Given the description of an element on the screen output the (x, y) to click on. 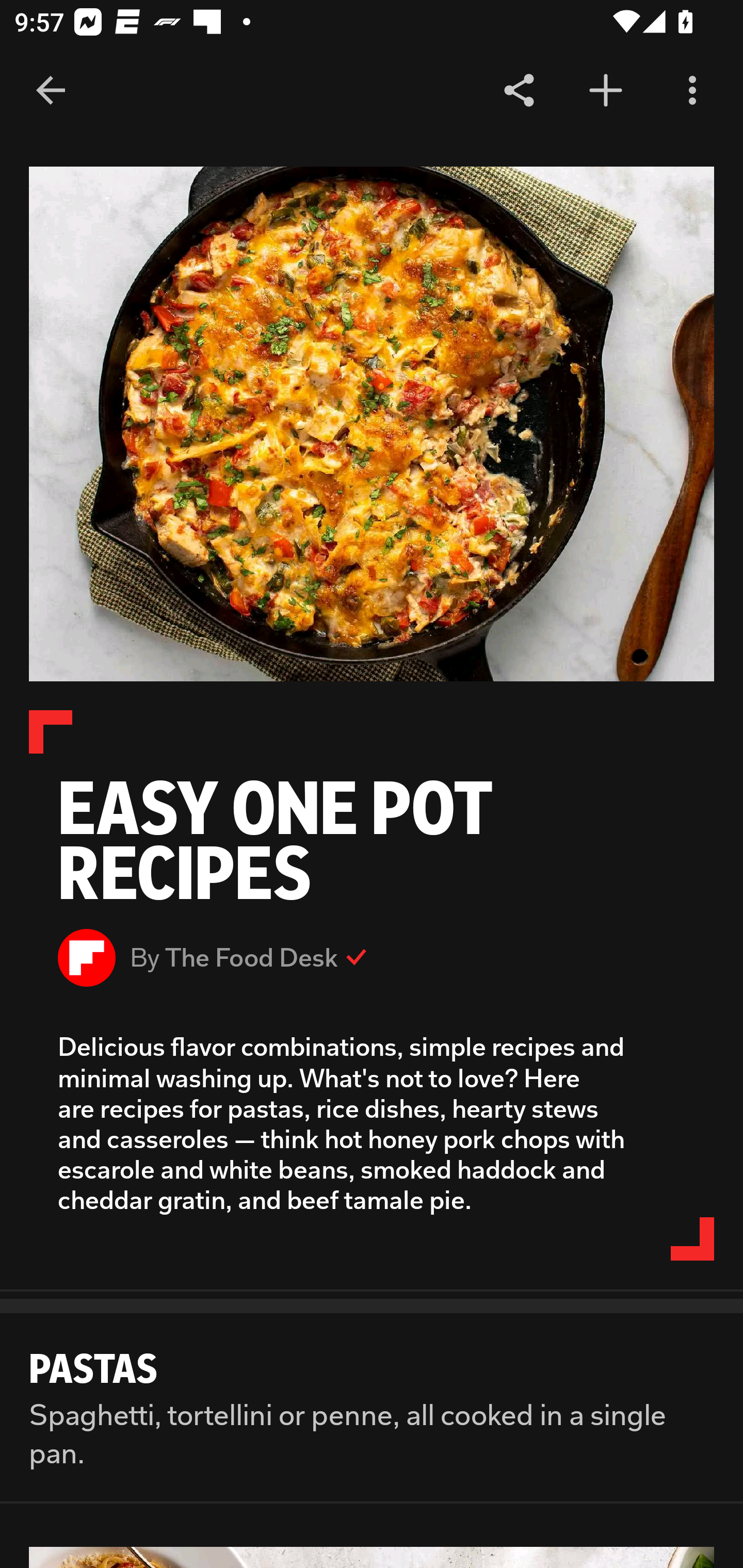
Back (50, 90)
Share (518, 90)
Flip into Magazine (605, 90)
Options (692, 90)
By The Food Desk (371, 957)
